Given the description of an element on the screen output the (x, y) to click on. 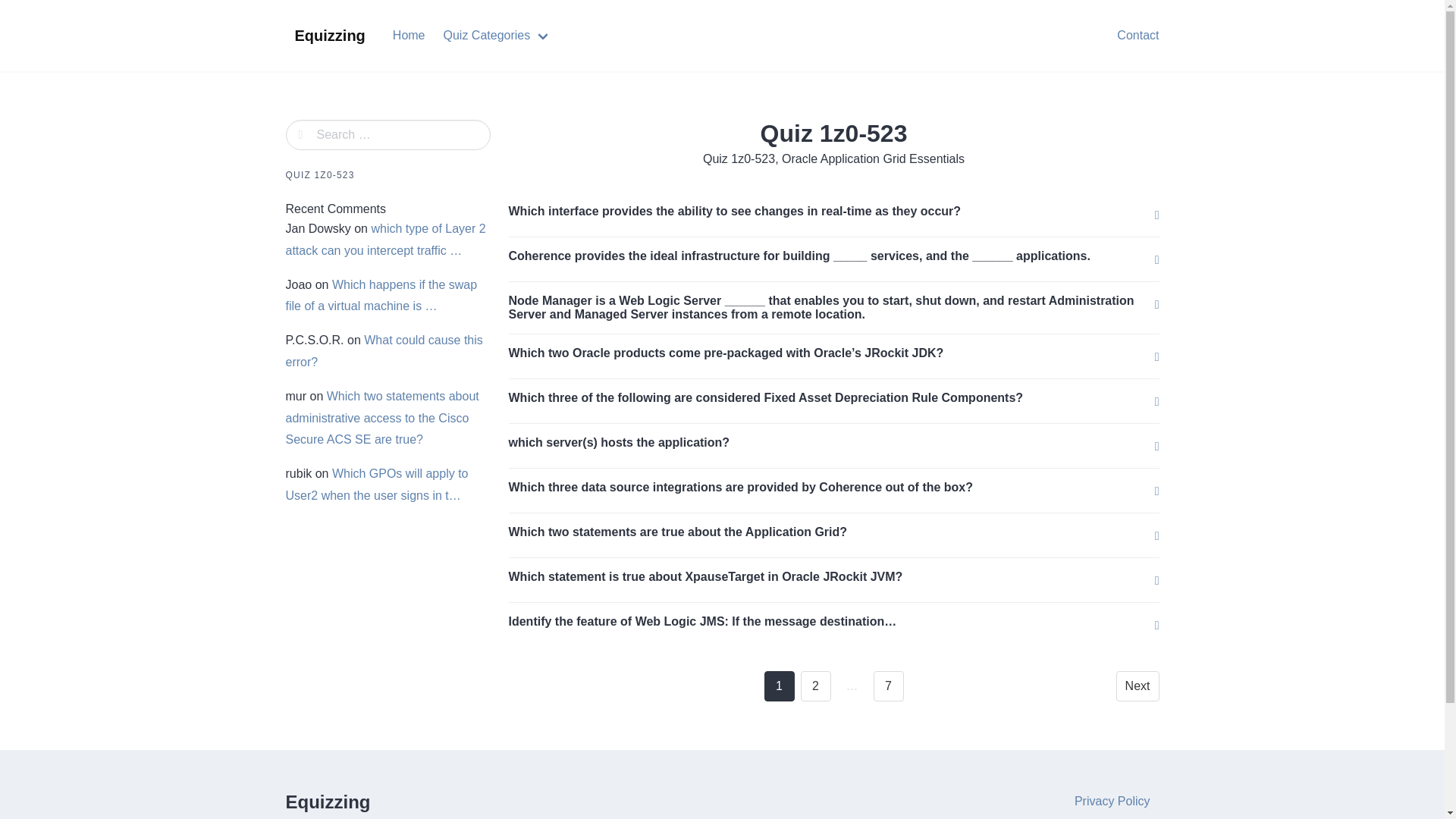
Contact (1137, 35)
Home (408, 35)
What could cause this error? (383, 350)
Which two statements are true about the Application Grid? (677, 531)
7 (888, 685)
Equizzing (329, 35)
2 (815, 685)
Privacy Policy (1111, 801)
